Given the description of an element on the screen output the (x, y) to click on. 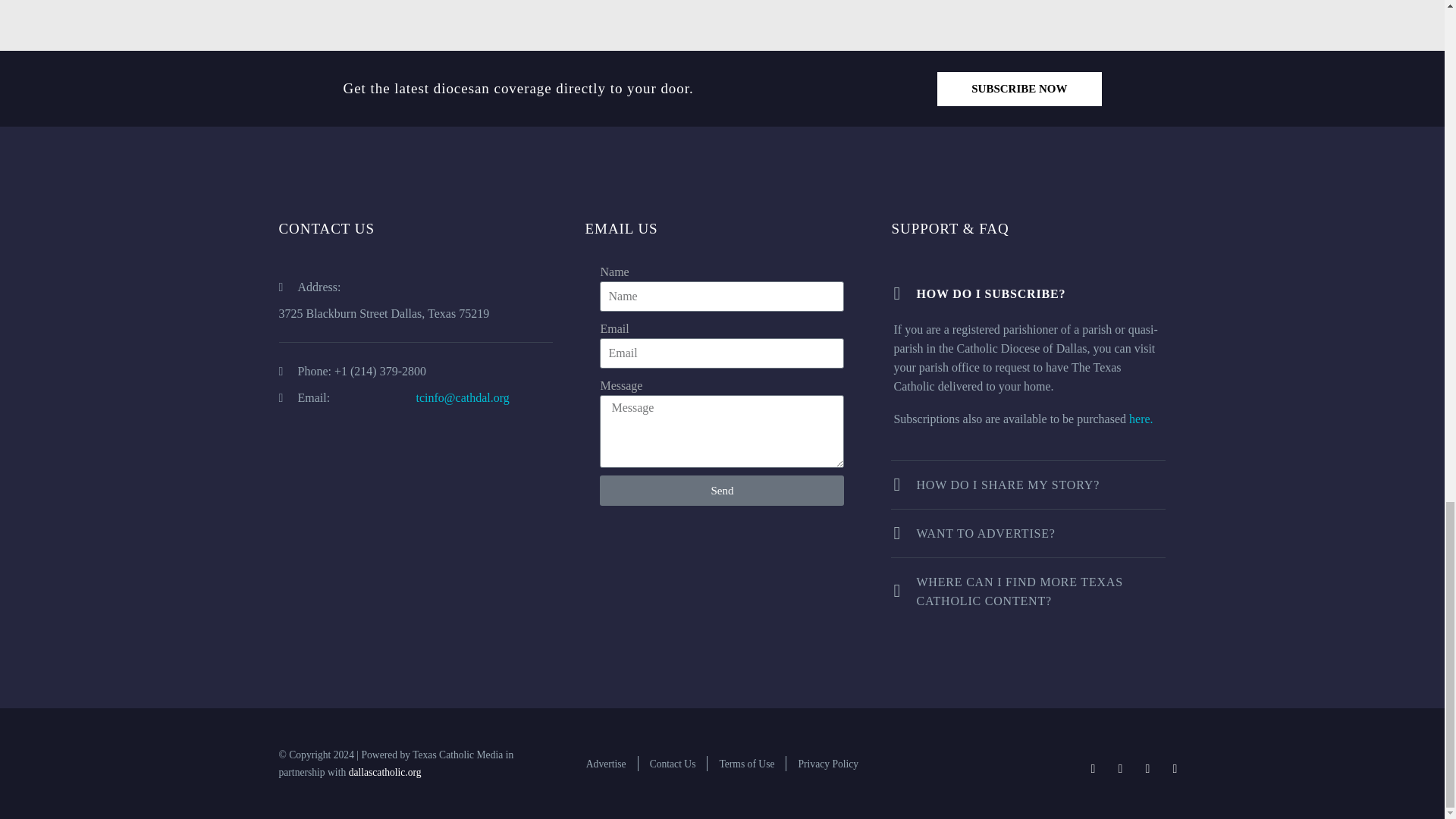
HOW DO I SUBSCRIBE? (1028, 293)
Send (721, 490)
here. (1141, 418)
Email: (347, 397)
SUBSCRIBE NOW (1018, 89)
HOW DO I SHARE MY STORY? (1028, 484)
